Given the description of an element on the screen output the (x, y) to click on. 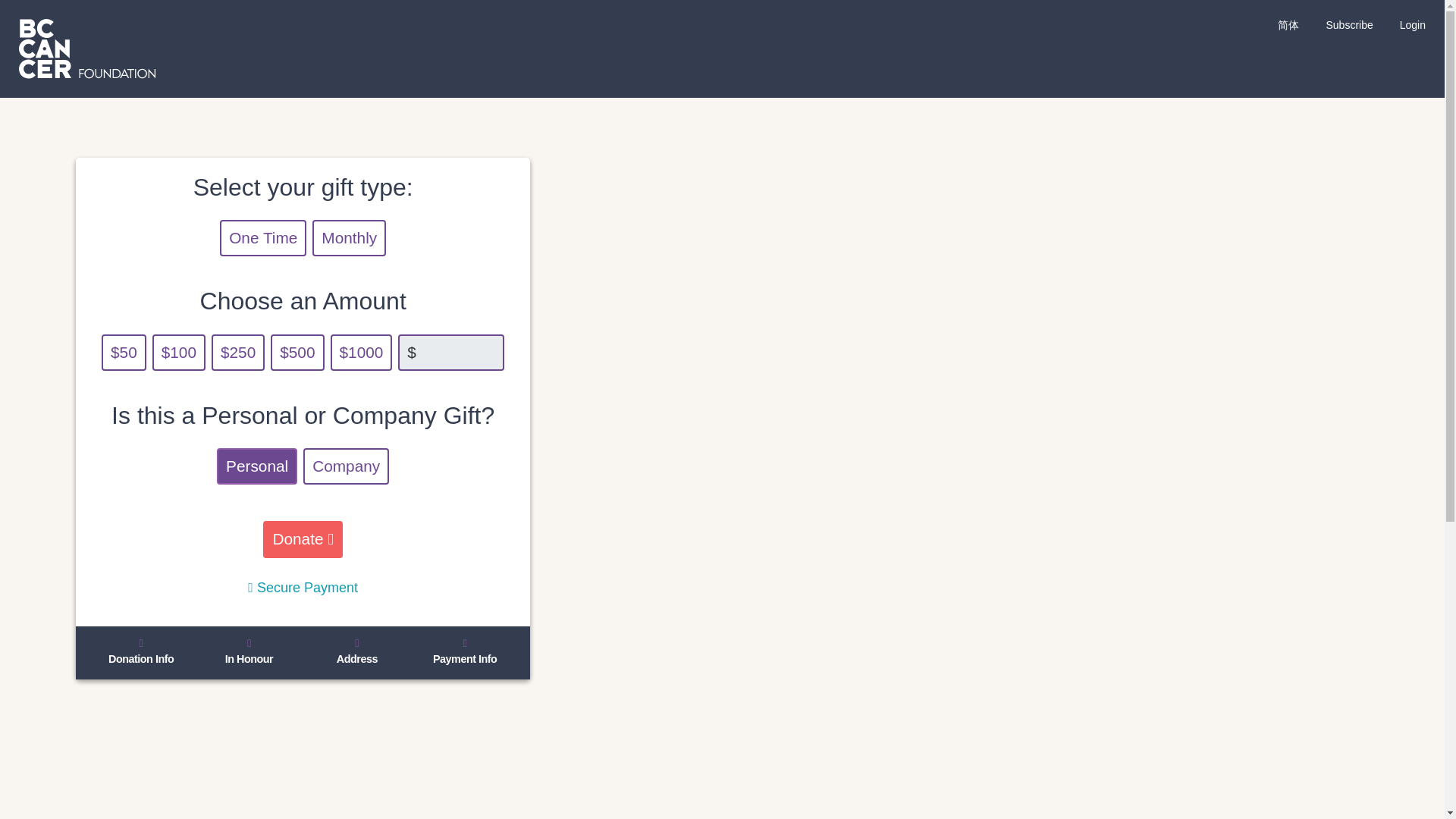
Subscribe (1348, 24)
Login (1412, 24)
